Given the description of an element on the screen output the (x, y) to click on. 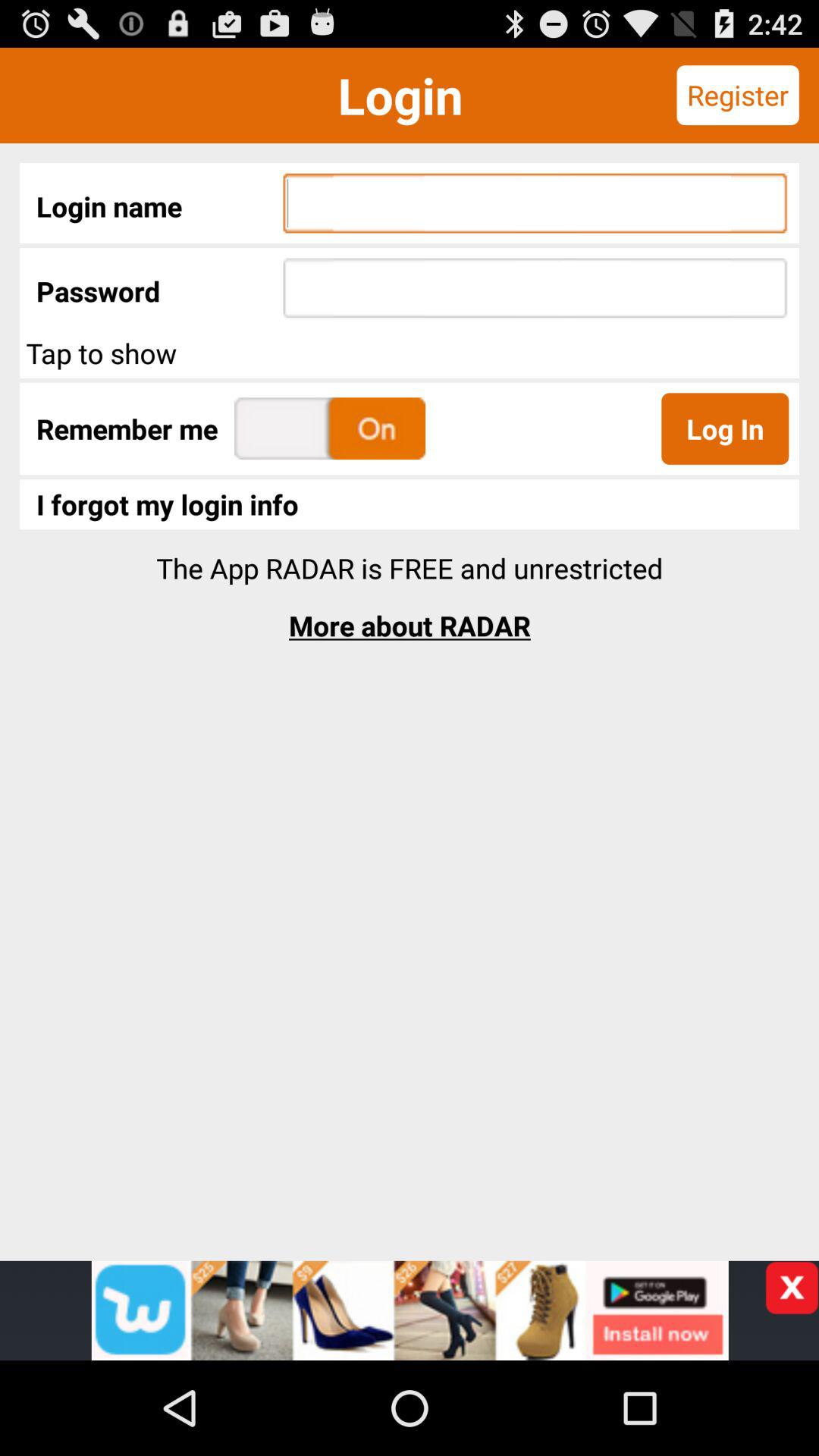
open advertisement (409, 1310)
